Given the description of an element on the screen output the (x, y) to click on. 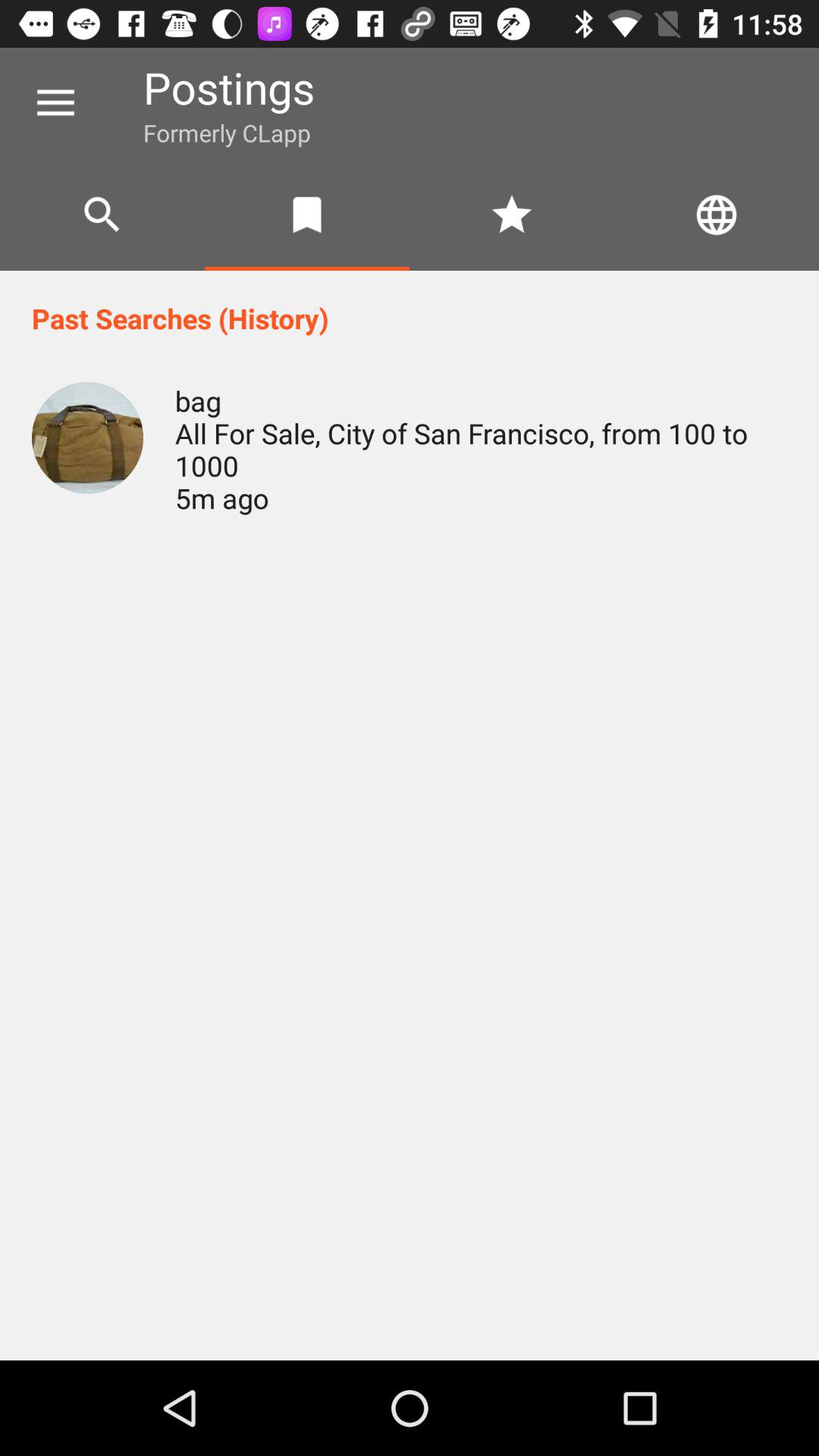
open icon next to the bag all for icon (87, 437)
